Given the description of an element on the screen output the (x, y) to click on. 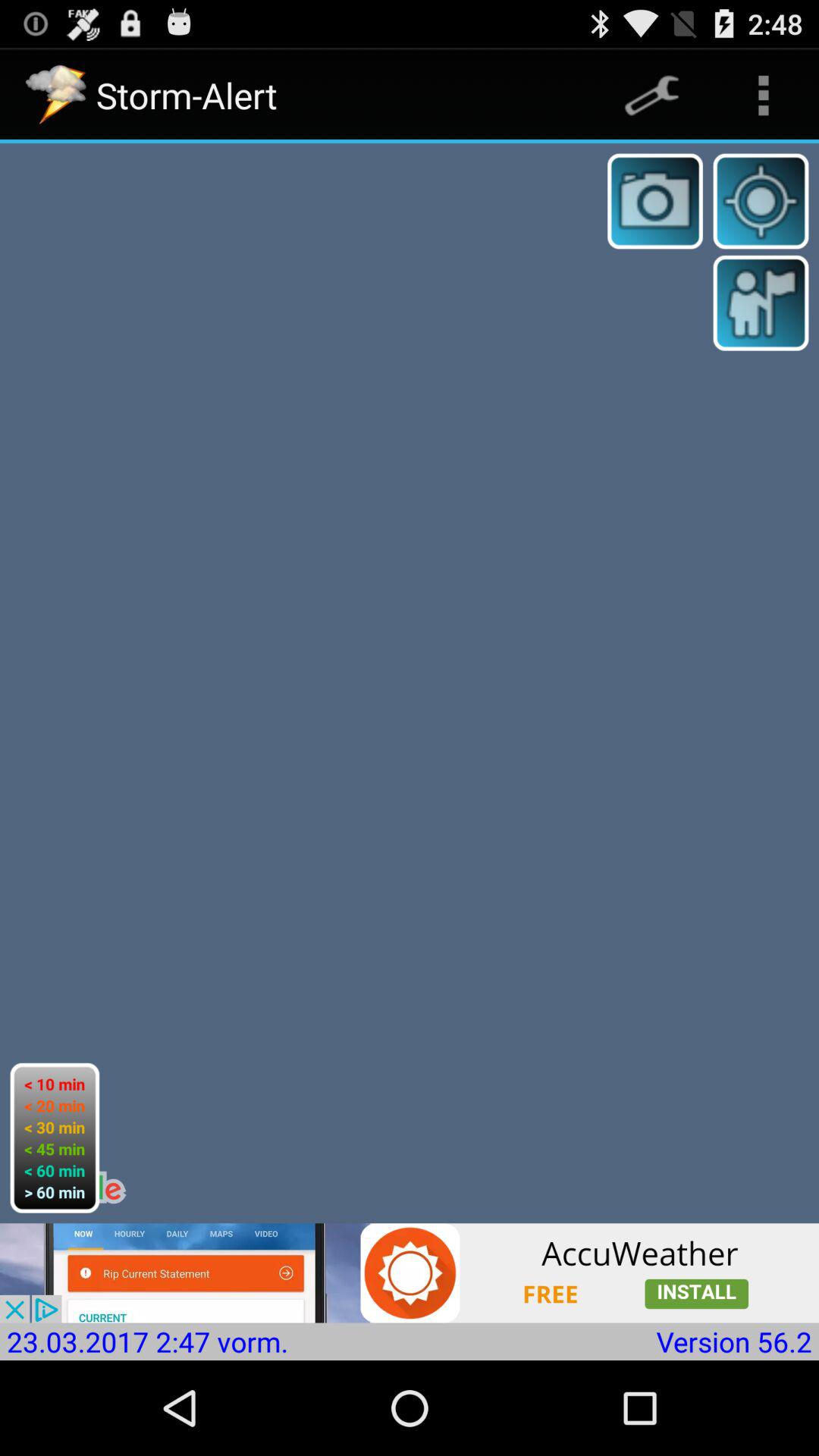
locate with gps (760, 201)
